Given the description of an element on the screen output the (x, y) to click on. 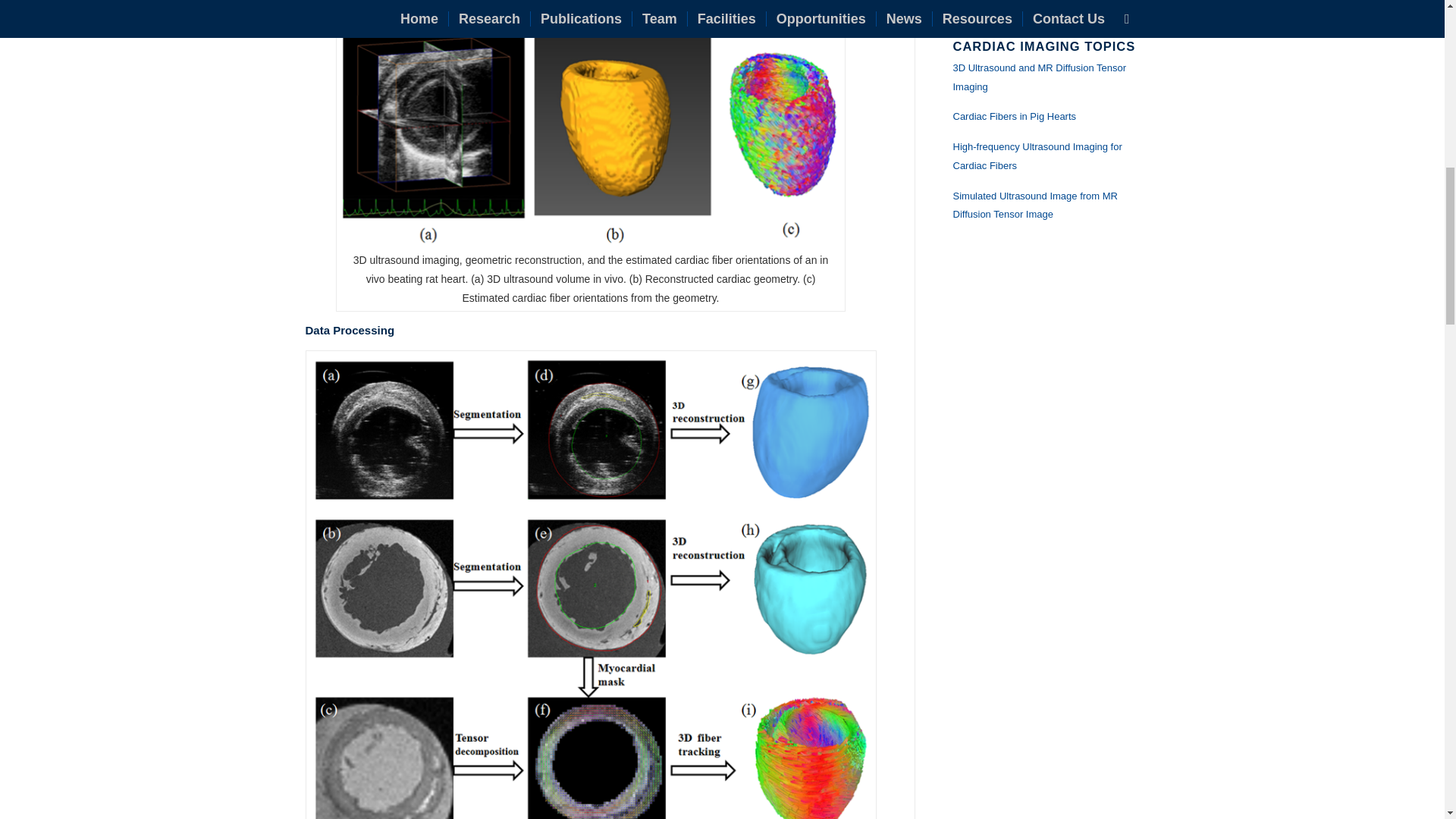
3D Ultrasound and MR Diffusion Tensor Imaging (1038, 77)
Cardiac Fibers in Pig Hearts (1013, 116)
Simulated Ultrasound Image from MR Diffusion Tensor Image (1034, 205)
High-frequency Ultrasound Imaging for Cardiac Fibers (1036, 155)
